Given the description of an element on the screen output the (x, y) to click on. 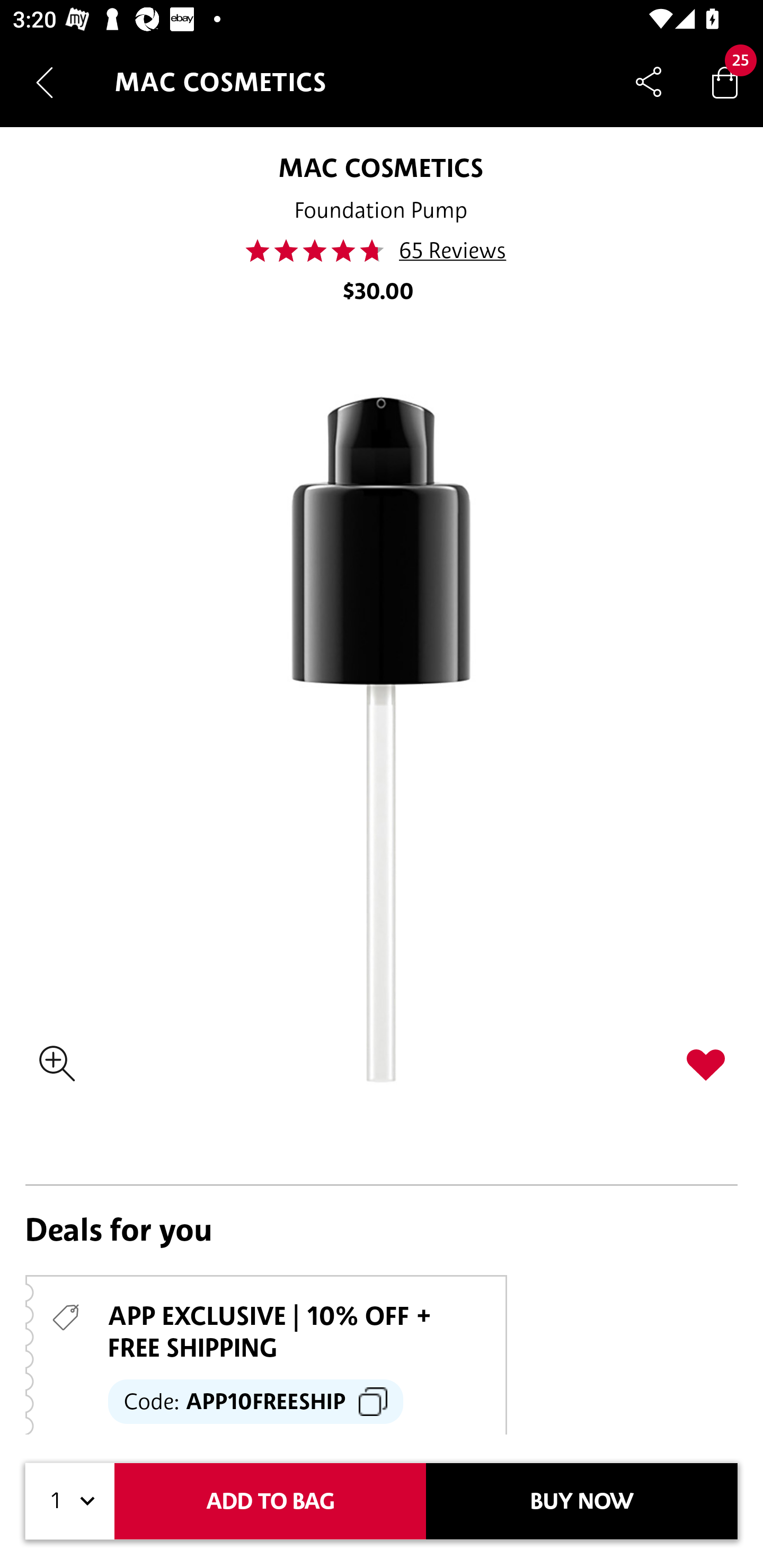
Navigate up (44, 82)
Share (648, 81)
Bag (724, 81)
MAC COSMETICS (380, 167)
47.0 65 Reviews (381, 250)
1 (69, 1500)
ADD TO BAG (269, 1500)
BUY NOW (581, 1500)
